Given the description of an element on the screen output the (x, y) to click on. 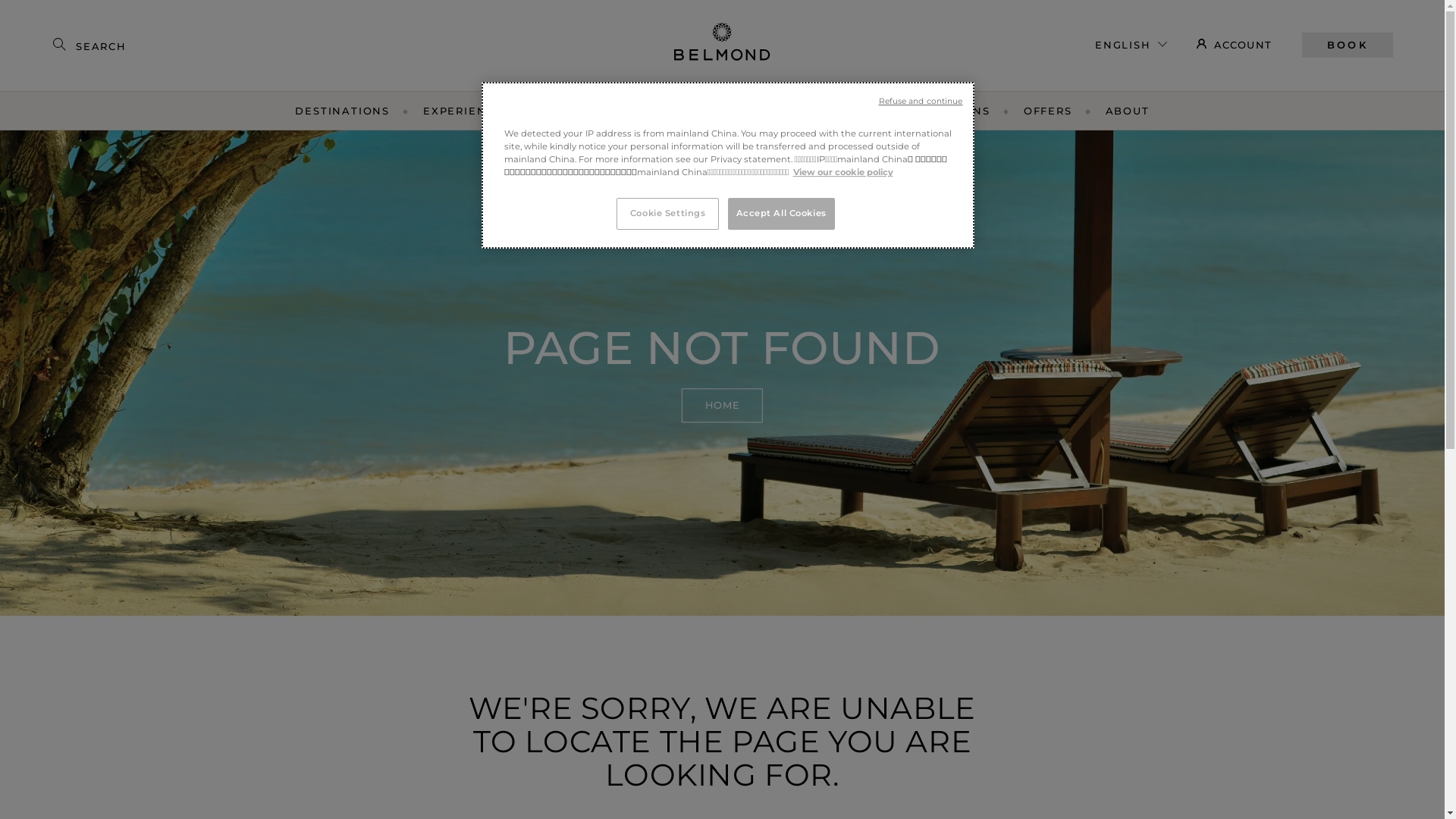
OFFERS Element type: text (1047, 110)
View our cookie policy Element type: text (843, 171)
DESTINATIONS Element type: text (341, 110)
OCCASIONS Element type: text (953, 110)
PACKAGES & TOURS Element type: text (605, 110)
EXPERIENCES Element type: text (466, 110)
ACCOUNT Element type: text (1233, 43)
ABOUT Element type: text (1127, 110)
SIGNATURE SUITES & VILLAS Element type: text (792, 110)
BOOK Element type: text (1347, 44)
HOME Element type: text (721, 405)
Accept All Cookies Element type: text (781, 213)
Cookie Settings Element type: text (667, 213)
Refuse and continue Element type: text (920, 101)
